Given the description of an element on the screen output the (x, y) to click on. 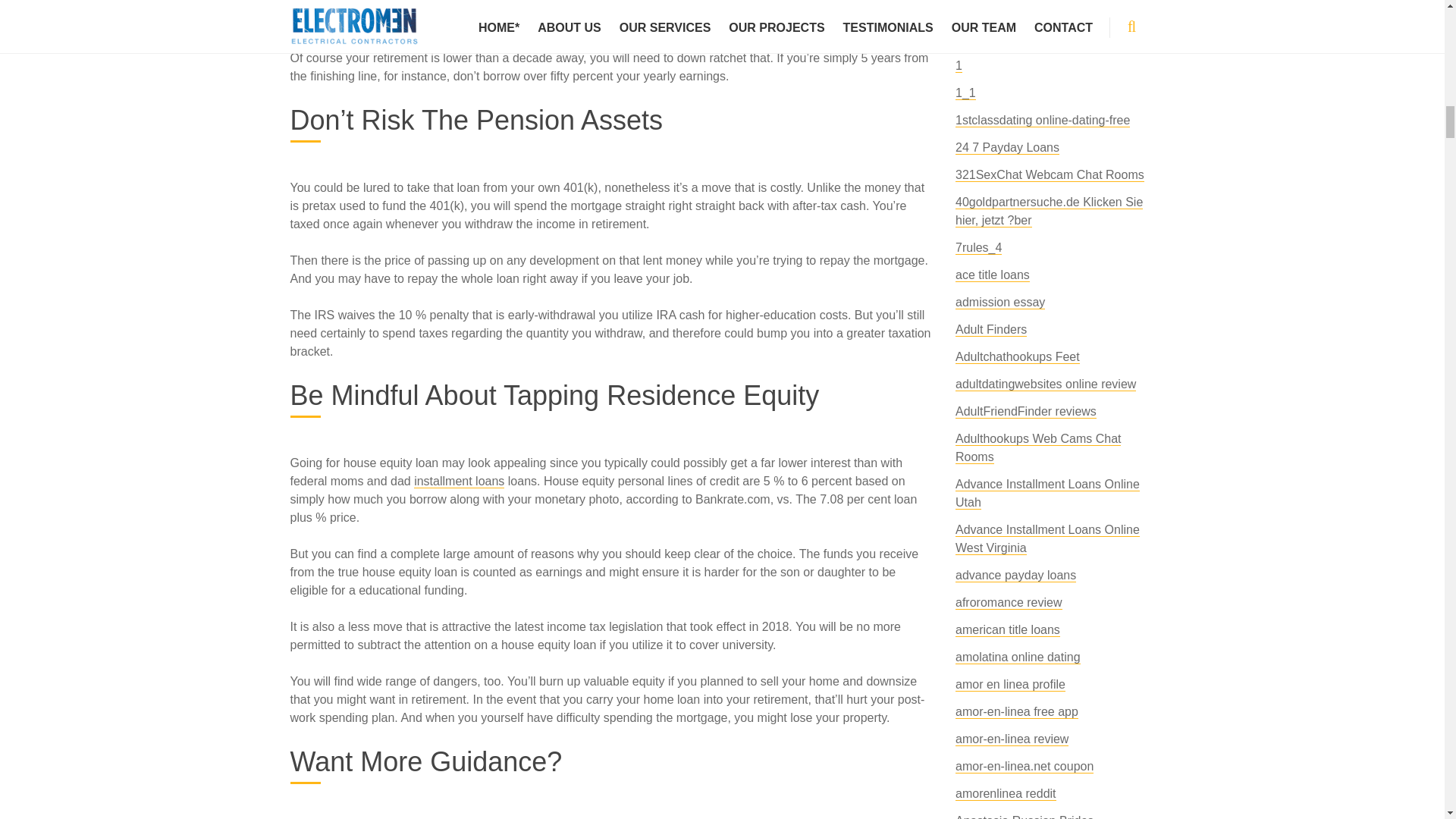
installment loans (458, 481)
